Given the description of an element on the screen output the (x, y) to click on. 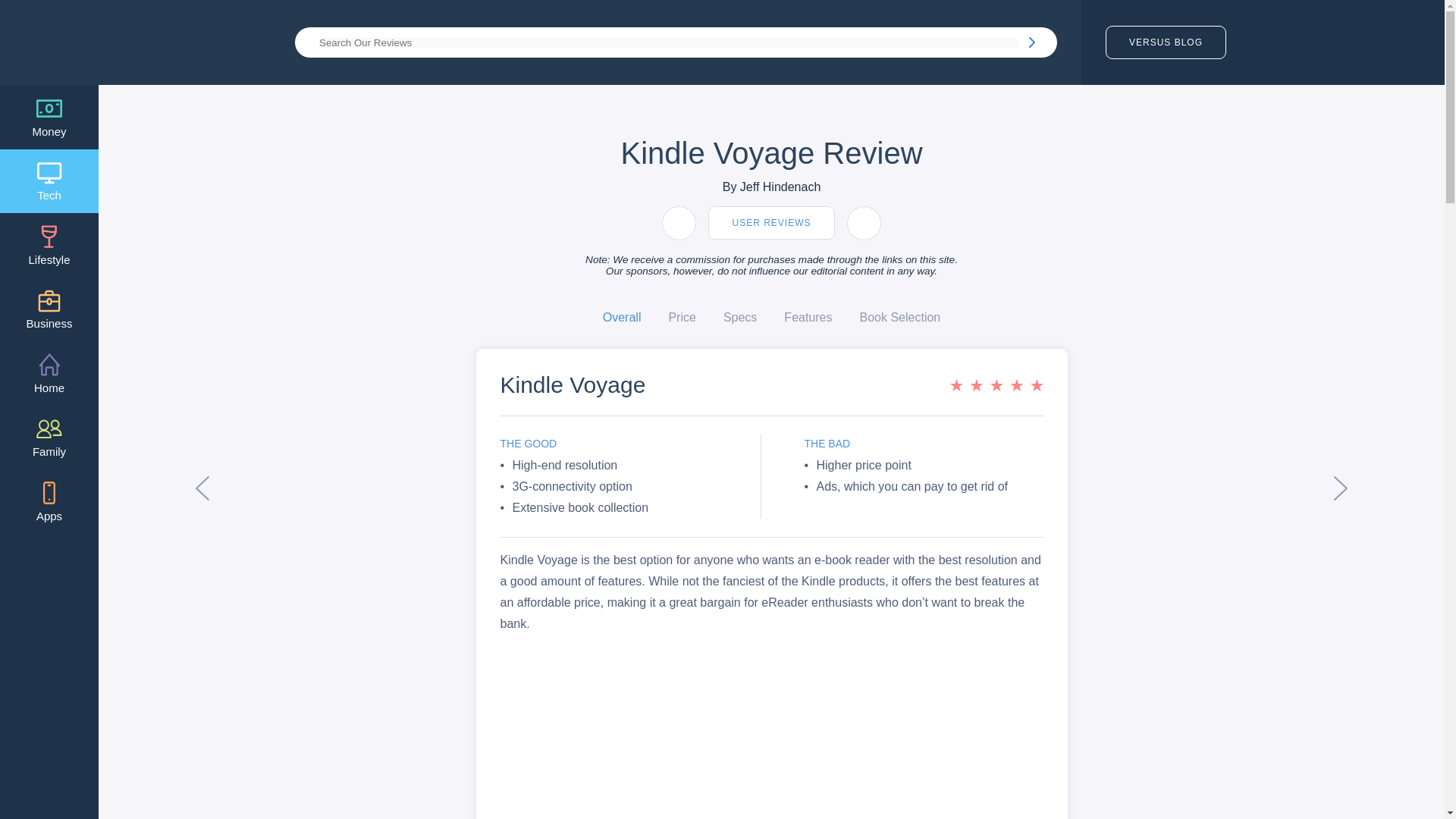
VERSUS BLOG (1165, 41)
Tech (49, 180)
Money (49, 117)
Search for... (667, 41)
Lifestyle (49, 244)
gorgeous (995, 385)
